Given the description of an element on the screen output the (x, y) to click on. 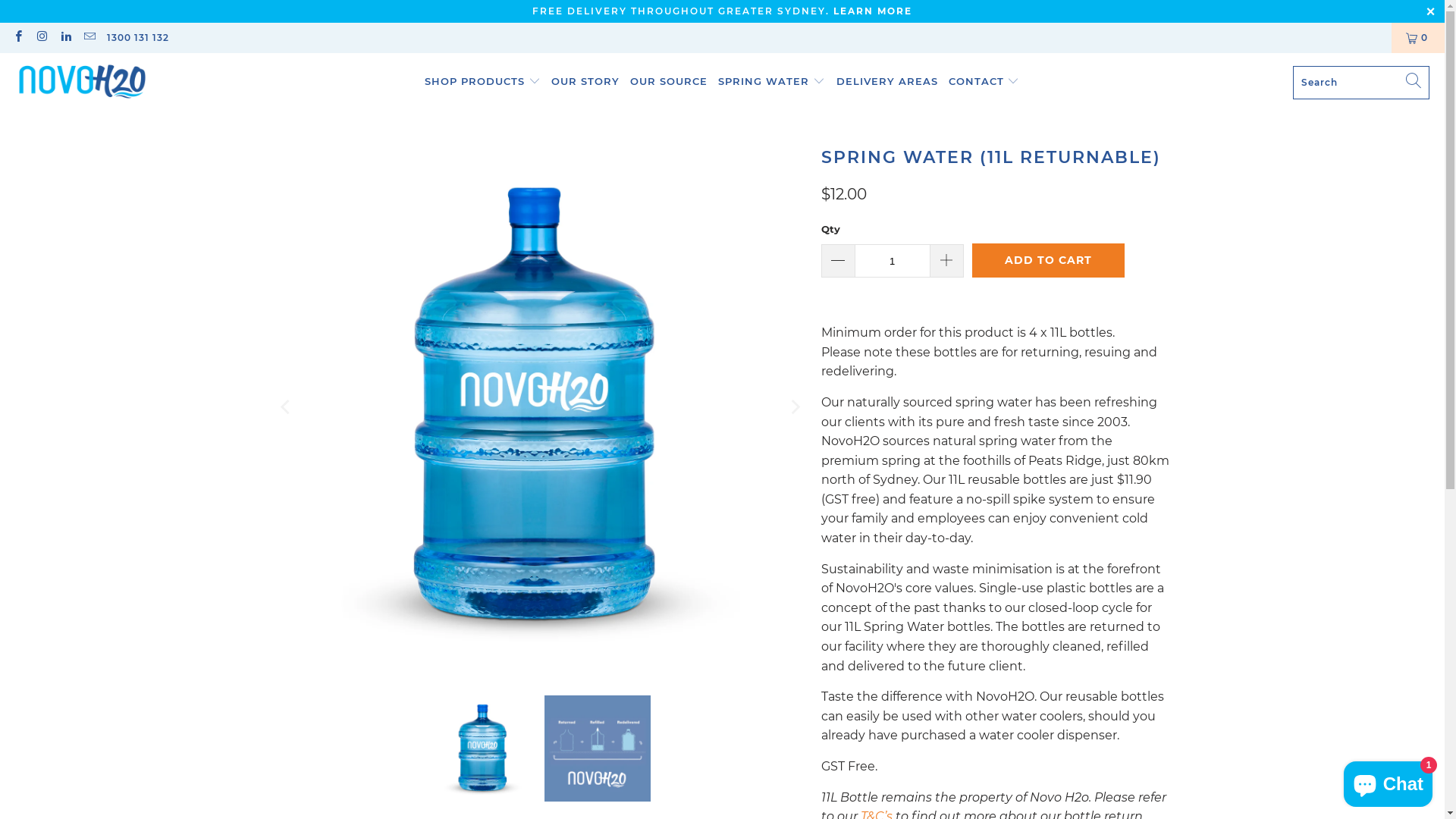
LEARN MORE Element type: text (872, 10)
SPRING WATER Element type: text (771, 81)
1300 131 132 Element type: text (137, 37)
DELIVERY AREAS Element type: text (887, 81)
Shopify online store chat Element type: hover (1388, 780)
NovoH2o on Instagram Element type: hover (40, 37)
CONTACT Element type: text (983, 81)
NovoH2o on Facebook Element type: hover (17, 37)
OUR SOURCE Element type: text (668, 81)
NovoH2o Element type: hover (83, 81)
OUR STORY Element type: text (585, 81)
NovoH2o on LinkedIn Element type: hover (65, 37)
0 Element type: text (1417, 37)
SHOP PRODUCTS Element type: text (482, 81)
Email NovoH2o Element type: hover (88, 37)
ADD TO CART Element type: text (1048, 260)
